Given the description of an element on the screen output the (x, y) to click on. 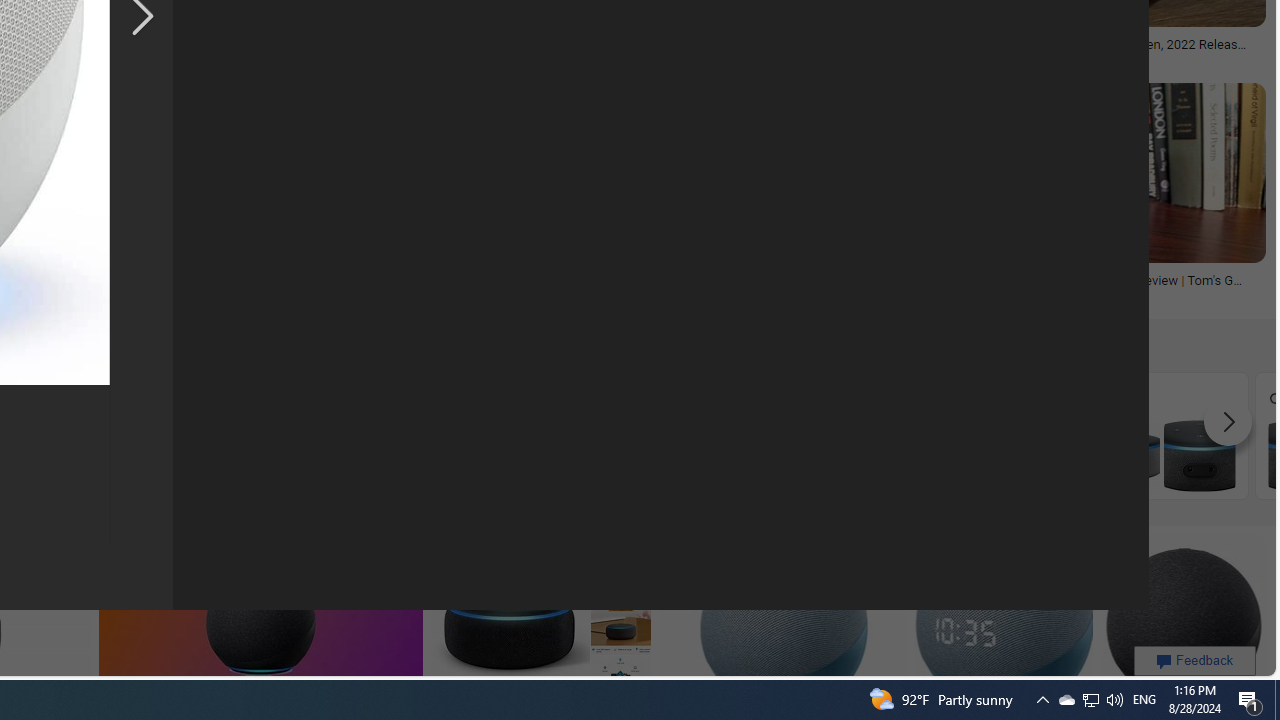
Image result for Newest Amazon Echo Dot (1182, 623)
Amazon Echo Dot 1 Generation (802, 455)
Amazon Echo Dot 4th Gen Smart Speaker with Alexa (622, 455)
ltonlinestore.com (876, 295)
mobi-me.net (671, 295)
Newest Amazon Echo Dot (81, 455)
exotique.com.mt (267, 58)
au.pcmag.com (1131, 58)
laptrinhx.com (740, 57)
